Given the description of an element on the screen output the (x, y) to click on. 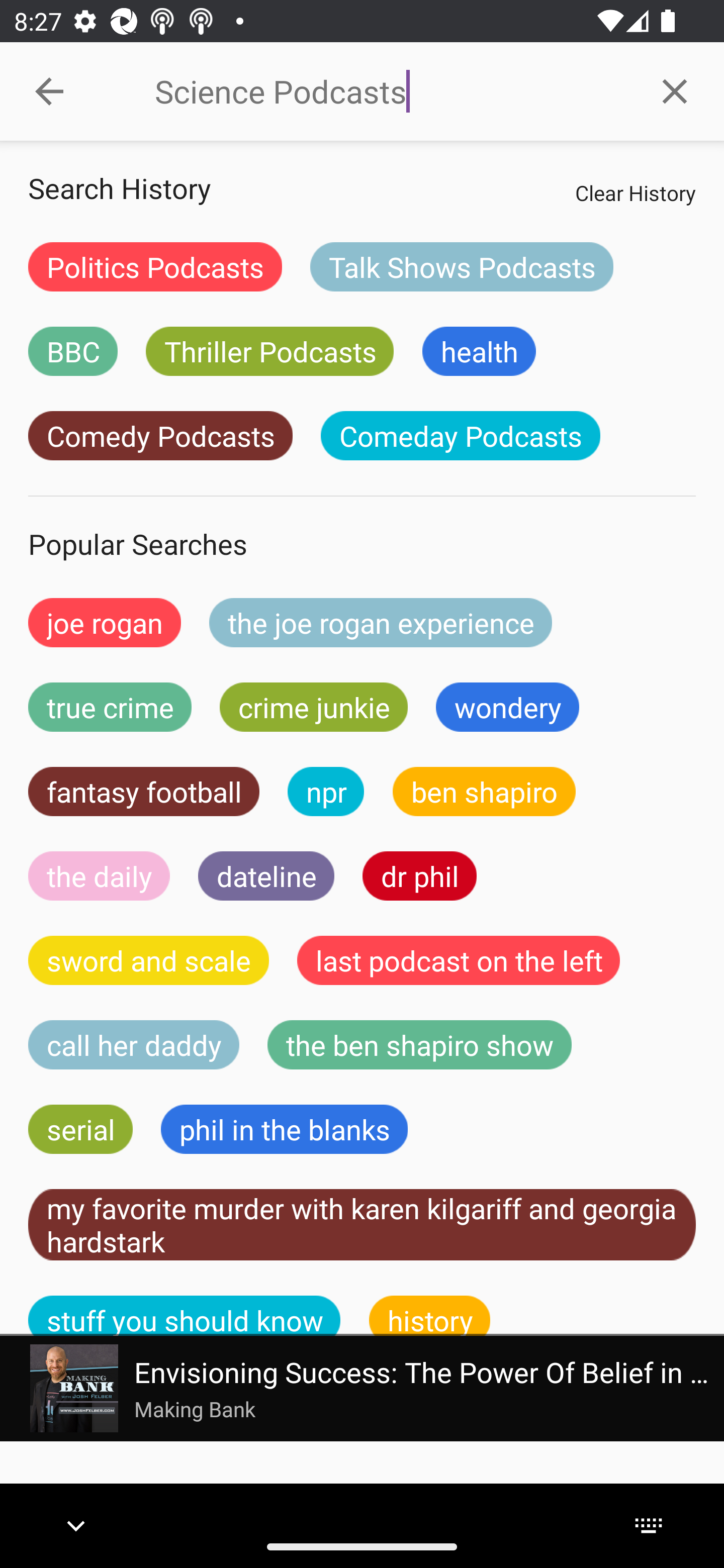
Collapse (49, 91)
Clear query (674, 90)
Science Podcasts (389, 91)
Clear History (634, 192)
Politics Podcasts (155, 266)
Talk Shows Podcasts (461, 266)
BBC (72, 351)
Thriller Podcasts (269, 351)
health (478, 351)
Comedy Podcasts (160, 435)
Comeday Podcasts (460, 435)
joe rogan (104, 622)
the joe rogan experience (380, 622)
true crime (109, 707)
crime junkie (313, 707)
wondery (507, 707)
fantasy football (143, 791)
npr (325, 791)
ben shapiro (483, 791)
the daily (99, 875)
dateline (266, 875)
dr phil (419, 875)
sword and scale (148, 960)
last podcast on the left (458, 960)
call her daddy (133, 1044)
the ben shapiro show (419, 1044)
serial (80, 1128)
phil in the blanks (283, 1128)
stuff you should know (184, 1315)
history (429, 1315)
